Given the description of an element on the screen output the (x, y) to click on. 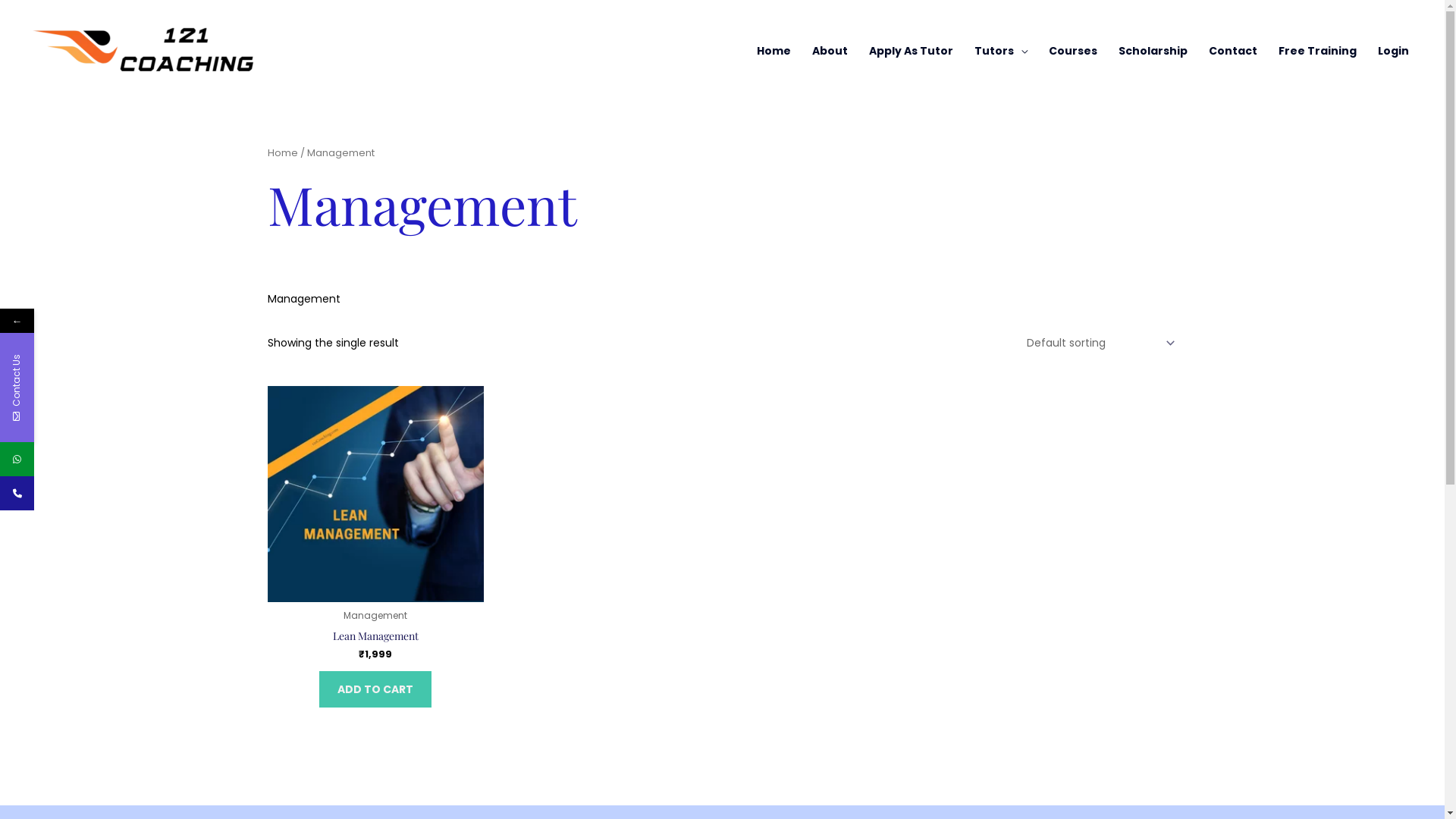
About Element type: text (829, 50)
Contact Element type: text (1232, 50)
Submit Element type: text (190, 619)
Lean Management Element type: text (374, 638)
Scholarship Element type: text (1152, 50)
Home Element type: text (281, 152)
WhatsApp Element type: text (86, 459)
Phone Element type: text (86, 493)
Courses Element type: text (1072, 50)
Apply As Tutor Element type: text (910, 50)
Tutors Element type: text (1000, 50)
Login Element type: text (1393, 50)
Free Training Element type: text (1317, 50)
Phone Element type: hover (17, 493)
ADD TO CART Element type: text (375, 689)
Home Element type: text (773, 50)
WhatsApp Element type: hover (17, 459)
